Given the description of an element on the screen output the (x, y) to click on. 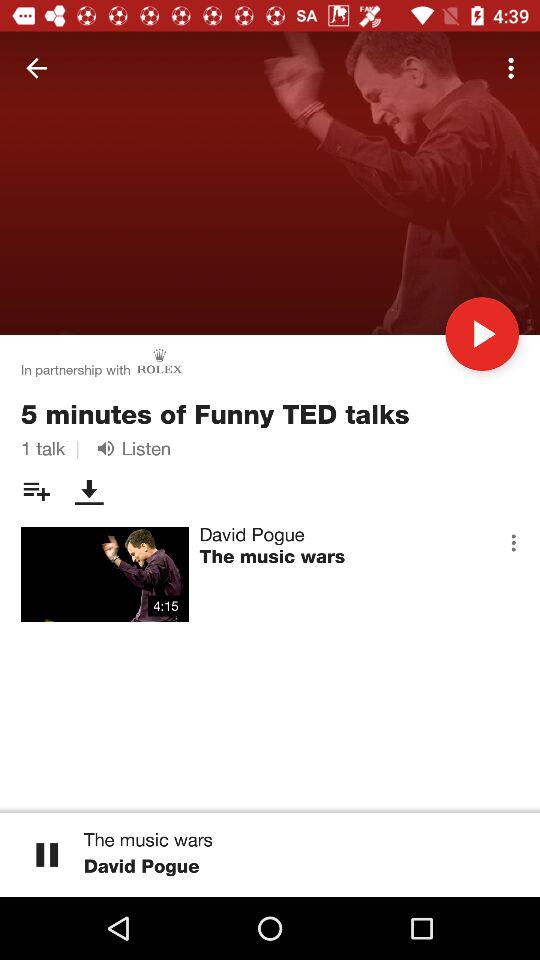
turn off the icon at the top right corner (513, 67)
